Given the description of an element on the screen output the (x, y) to click on. 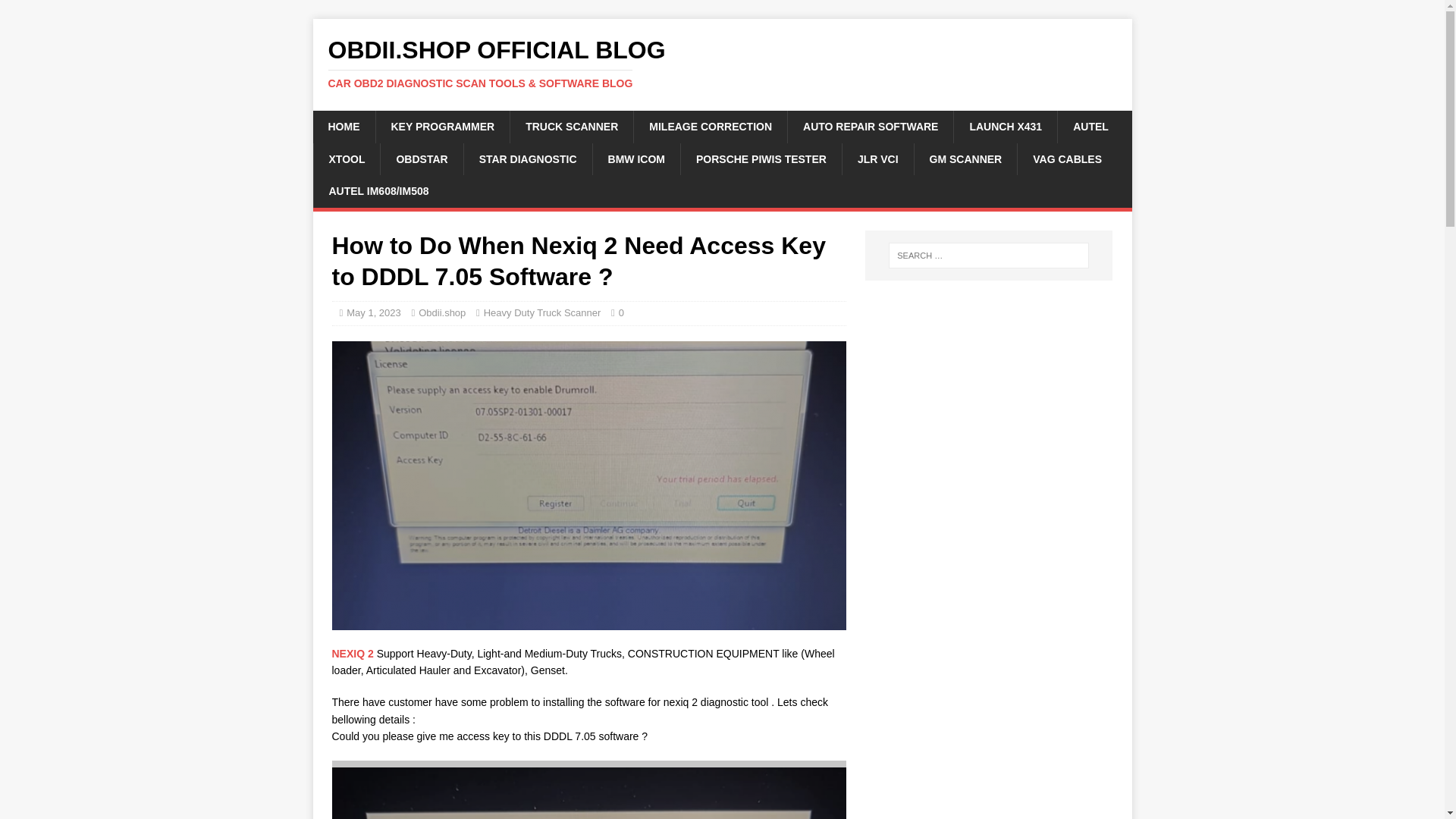
JLR VCI (877, 159)
LAUNCH X431 (1005, 126)
AUTO REPAIR SOFTWARE (870, 126)
GM SCANNER (965, 159)
Search (56, 11)
Obdii.shop (442, 312)
HOME (343, 126)
XTOOL (346, 159)
BMW ICOM (635, 159)
